Given the description of an element on the screen output the (x, y) to click on. 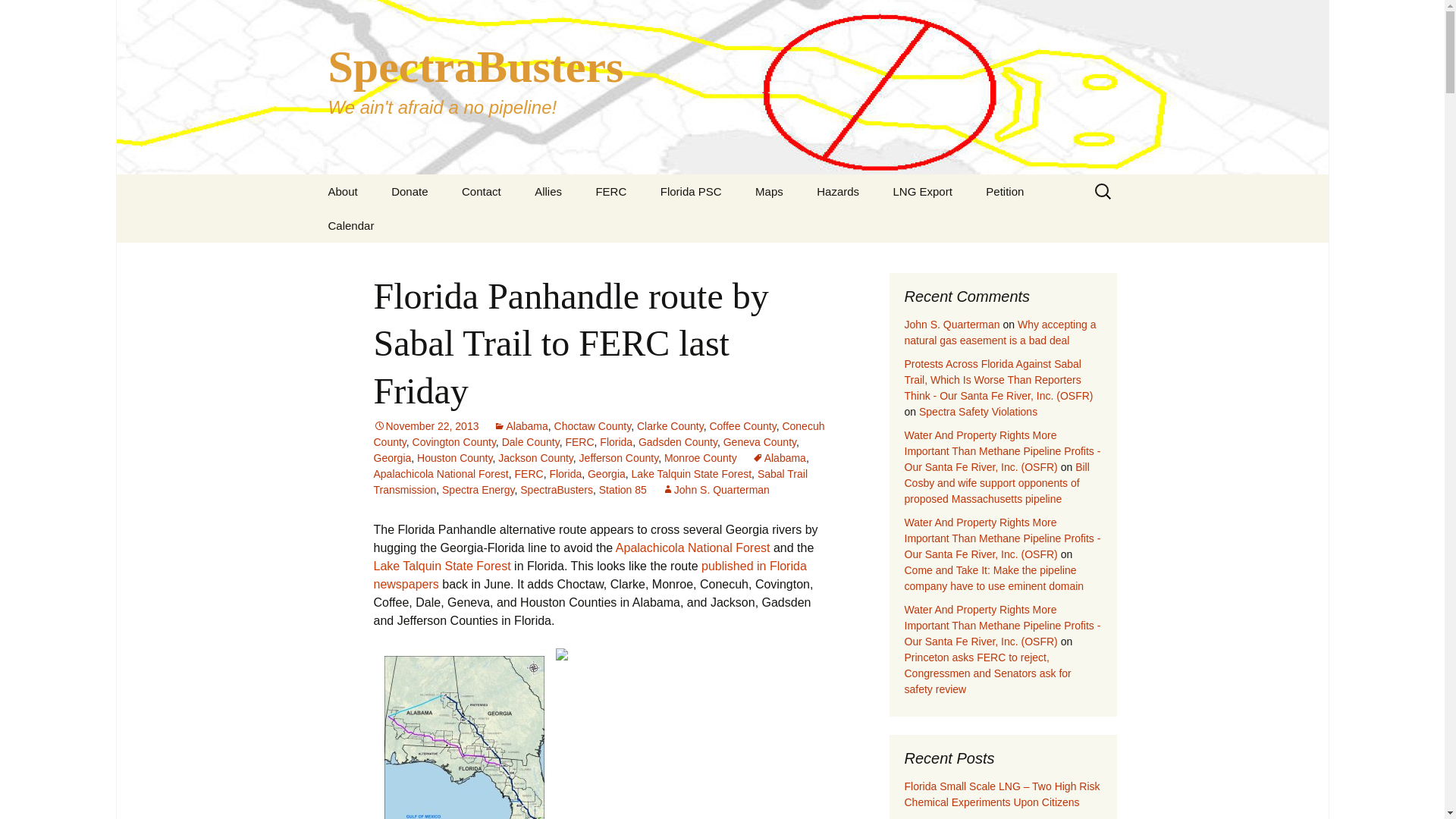
Florida PSC (690, 191)
About (877, 225)
Hazards (342, 191)
Maps (838, 191)
CP15-17 Sabal Trail Transmission (768, 191)
States, Counties, and Cities (655, 230)
View all posts by John S. Quarterman (522, 230)
Donate (716, 490)
